Given the description of an element on the screen output the (x, y) to click on. 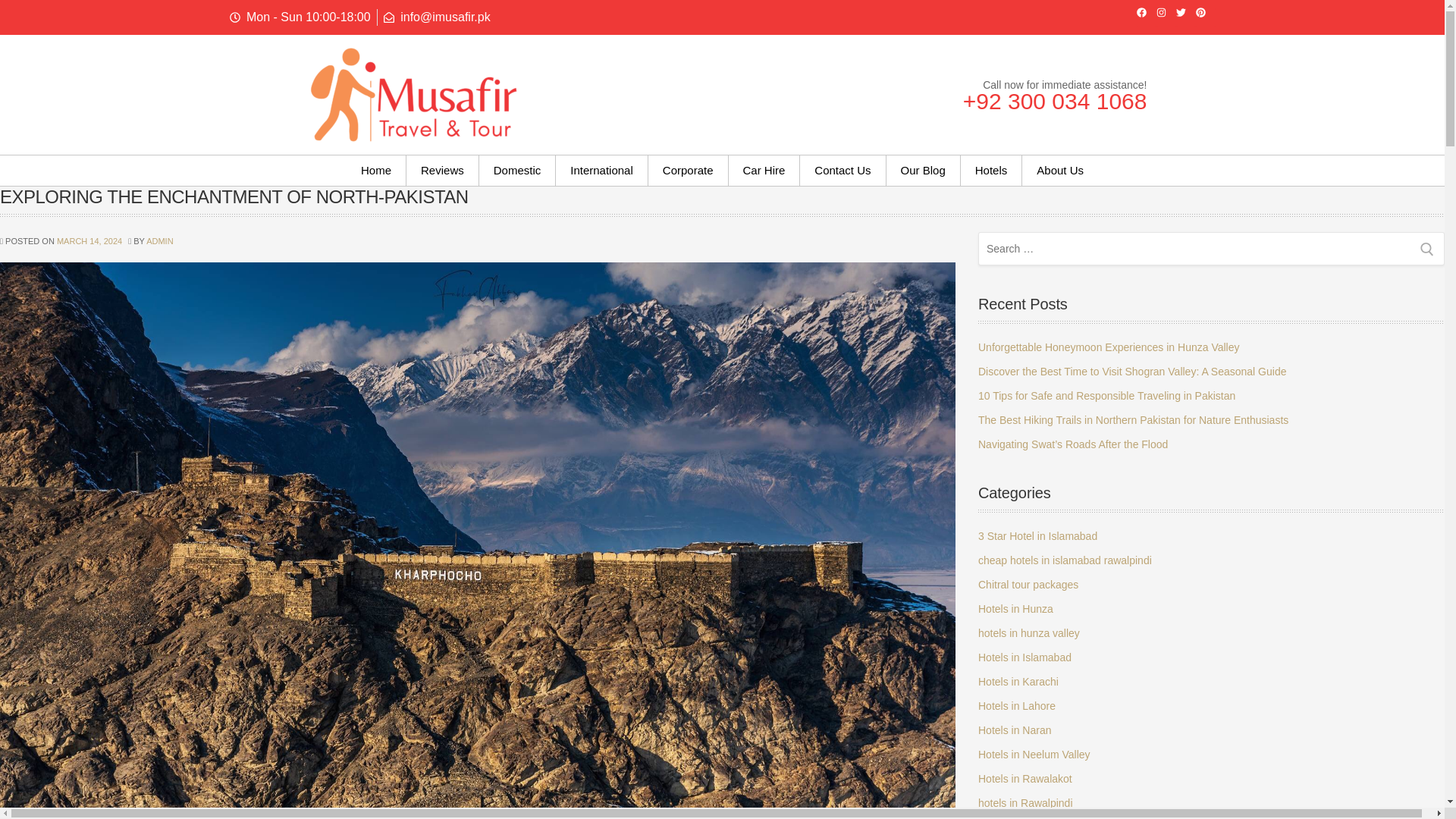
Our Blog (922, 170)
Domestic (517, 170)
Contact Us (842, 170)
Corporate (687, 170)
Car Hire (763, 170)
Hotels (991, 170)
About Us (1059, 170)
International (601, 170)
Reviews (442, 170)
Exploring the Enchantment of North-Pakistan (477, 580)
